Given the description of an element on the screen output the (x, y) to click on. 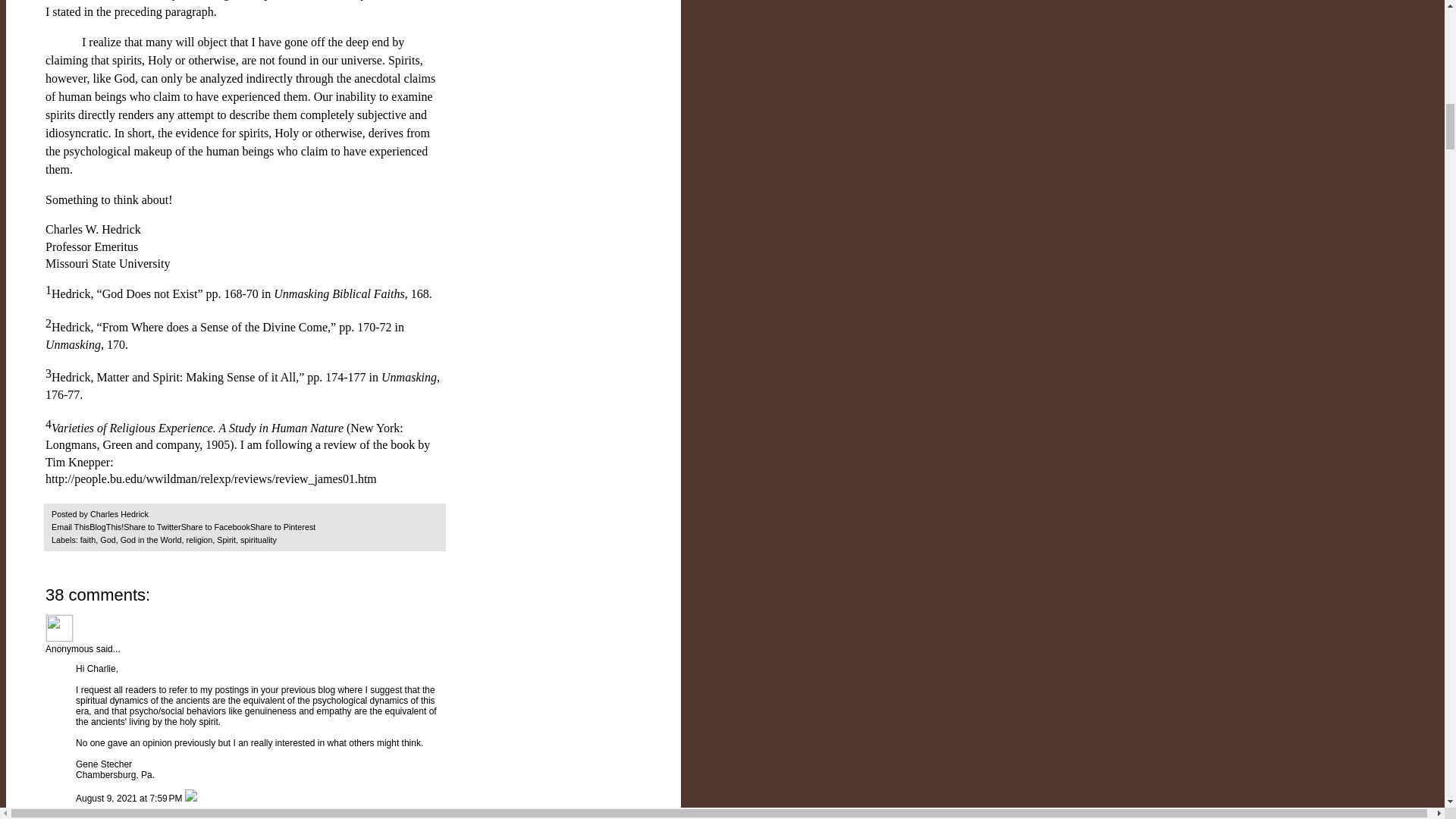
Anonymous (59, 628)
comment permalink (129, 798)
Email This (69, 526)
Email This (69, 526)
faith (88, 539)
God (107, 539)
Share to Pinterest (282, 526)
spirituality (258, 539)
Spirit (225, 539)
Share to Facebook (215, 526)
Share to Pinterest (282, 526)
God in the World (151, 539)
Share to Twitter (151, 526)
Share to Facebook (215, 526)
